Given the description of an element on the screen output the (x, y) to click on. 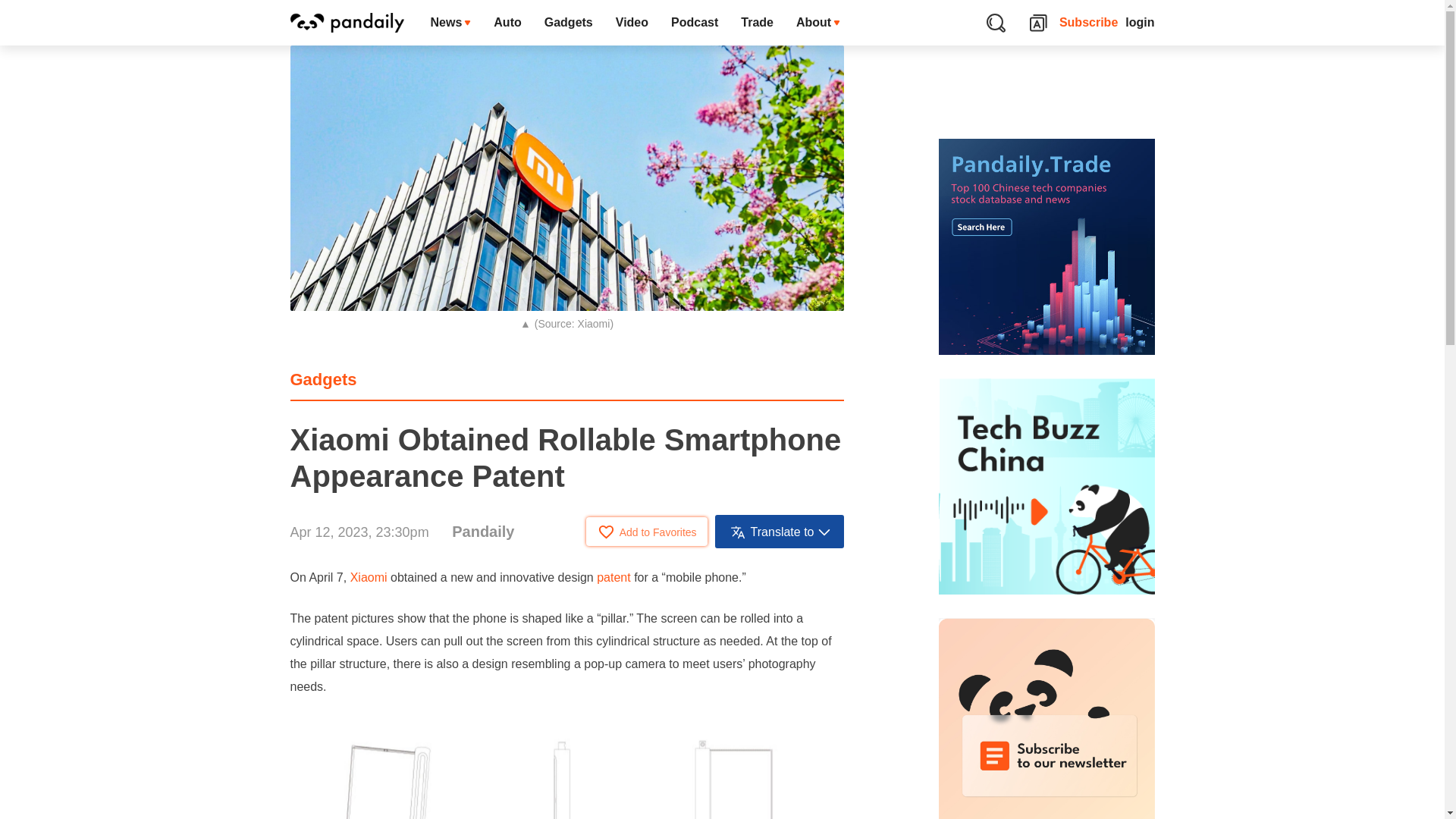
Translate to (779, 531)
login (1139, 22)
Auto (506, 22)
Subscribe (1088, 22)
Video (631, 22)
Gadgets (568, 22)
News (450, 22)
Pandaily (482, 531)
About (817, 22)
Trade (756, 22)
Add to Favorites (646, 531)
Apr 12, 2023, 23:30pm (358, 531)
Podcast (694, 22)
Gadgets (322, 379)
